Given the description of an element on the screen output the (x, y) to click on. 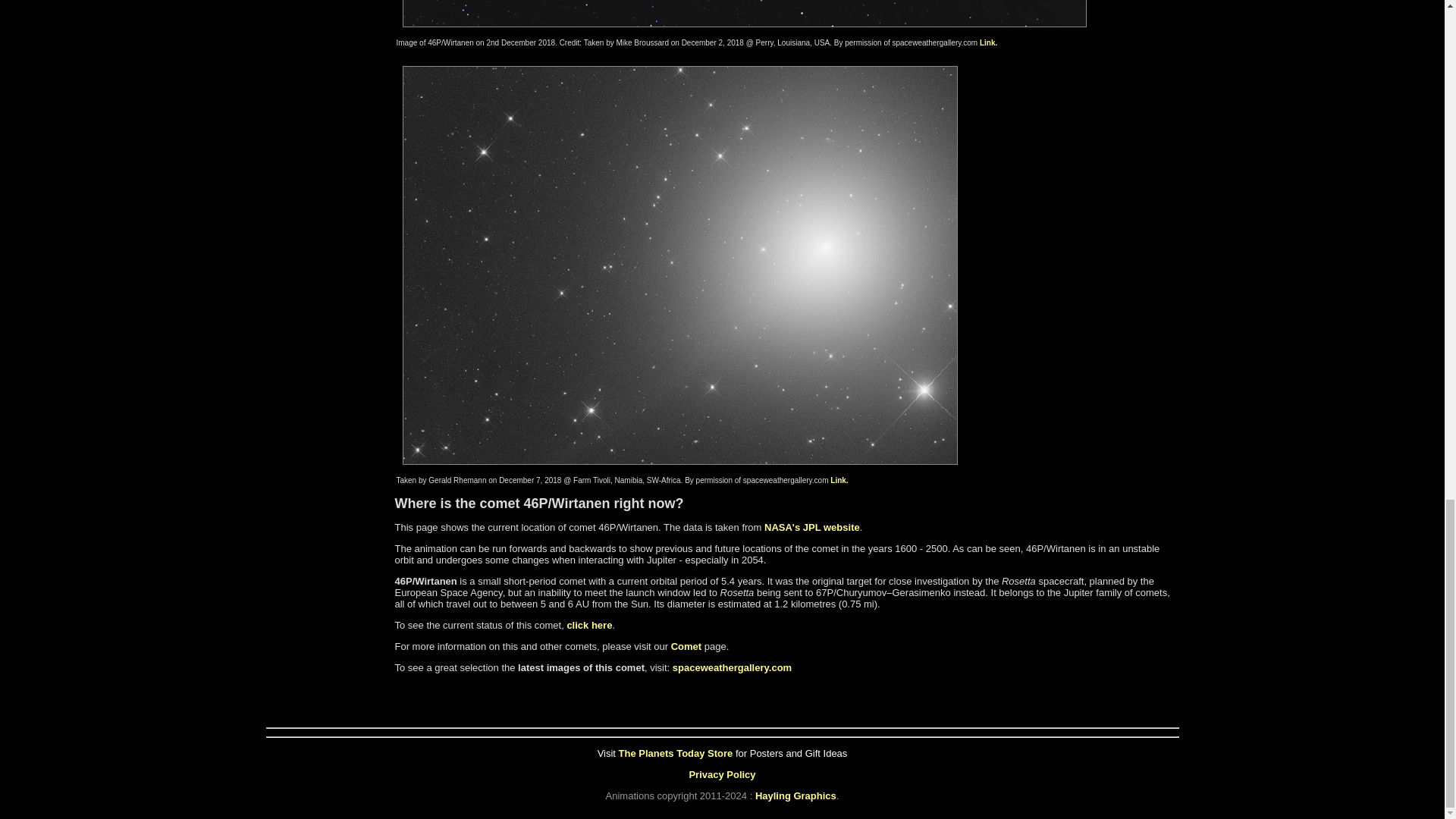
The Planets Today Privacy Policy (721, 774)
Hayling Graphics Animations (795, 795)
Link. (988, 42)
JPL Horizon's Website (812, 527)
Comet Trajectories and Orbits (686, 645)
Link. (838, 479)
